Given the description of an element on the screen output the (x, y) to click on. 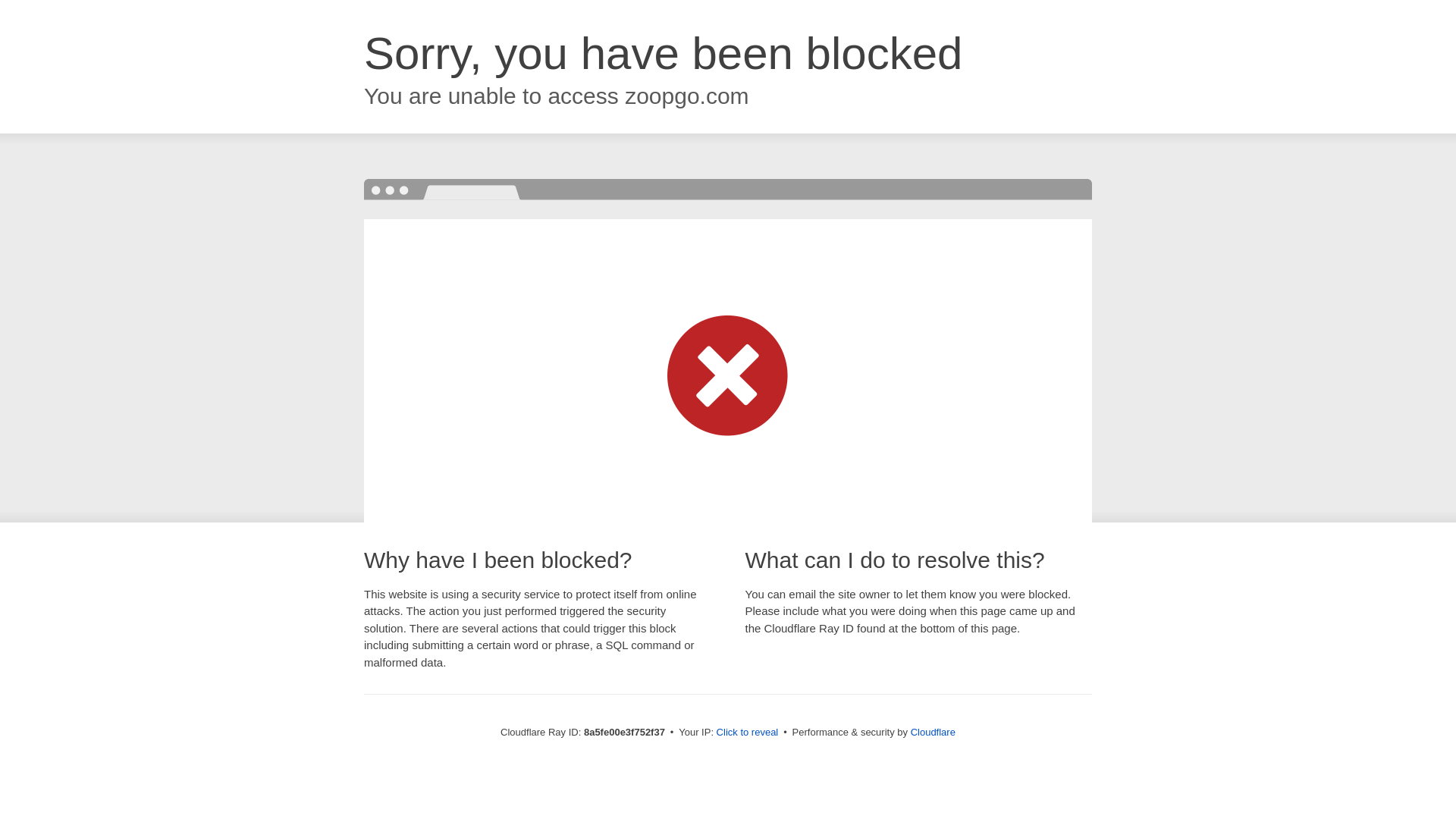
Cloudflare (933, 731)
Click to reveal (747, 732)
